Given the description of an element on the screen output the (x, y) to click on. 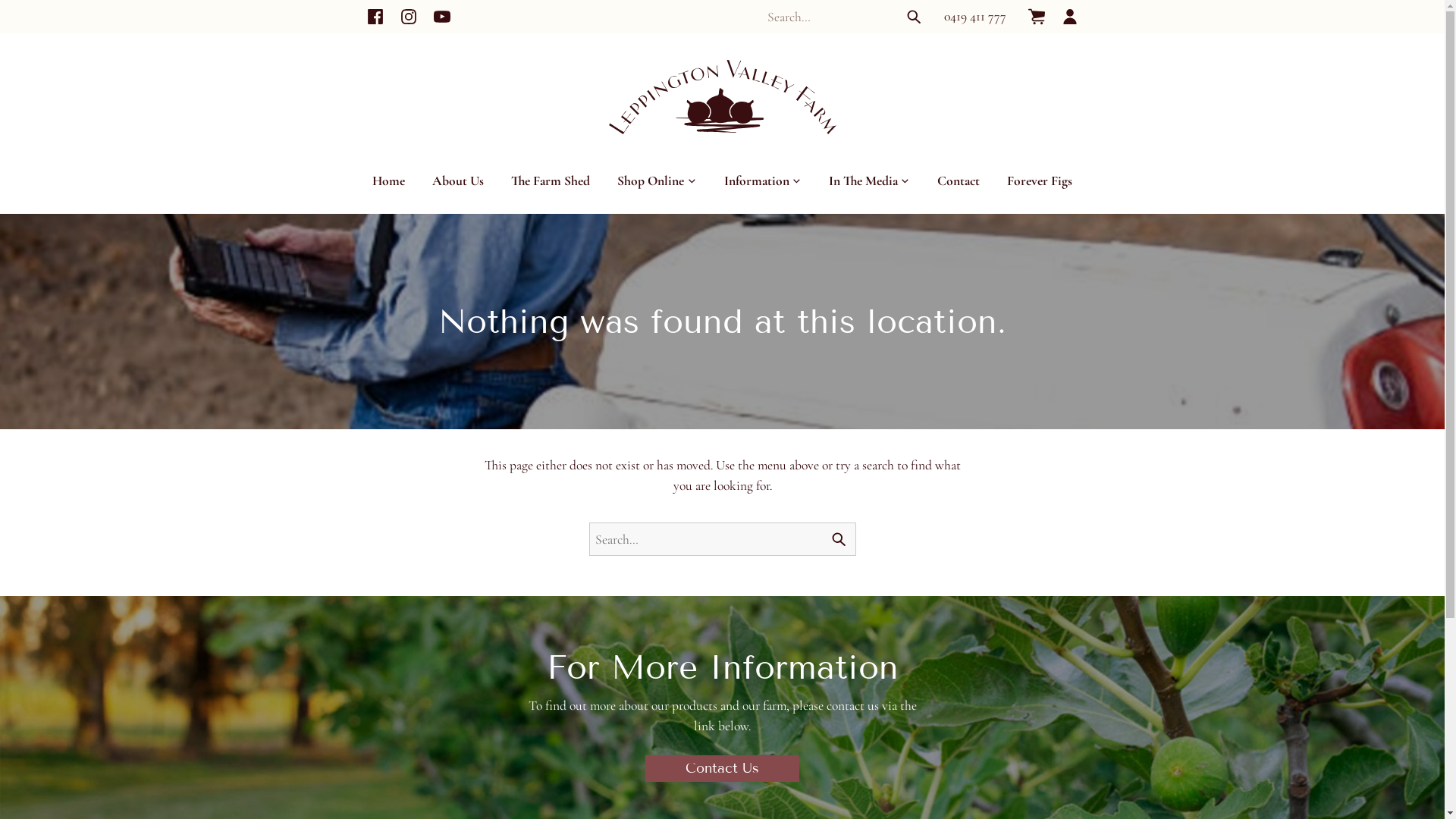
View cart (0 items) Element type: hover (1035, 16)
Contact Us Element type: text (722, 768)
The Farm Shed Element type: text (550, 180)
Home Element type: text (388, 180)
Search Element type: hover (913, 16)
0419 411 777 Element type: text (975, 16)
Search Element type: hover (838, 538)
In The Media Element type: text (869, 180)
Forever Figs Element type: text (1039, 180)
Contact Element type: text (958, 180)
Information Element type: text (762, 180)
Shop Online Element type: text (656, 180)
My account Element type: hover (1068, 16)
About Us Element type: text (457, 180)
